Given the description of an element on the screen output the (x, y) to click on. 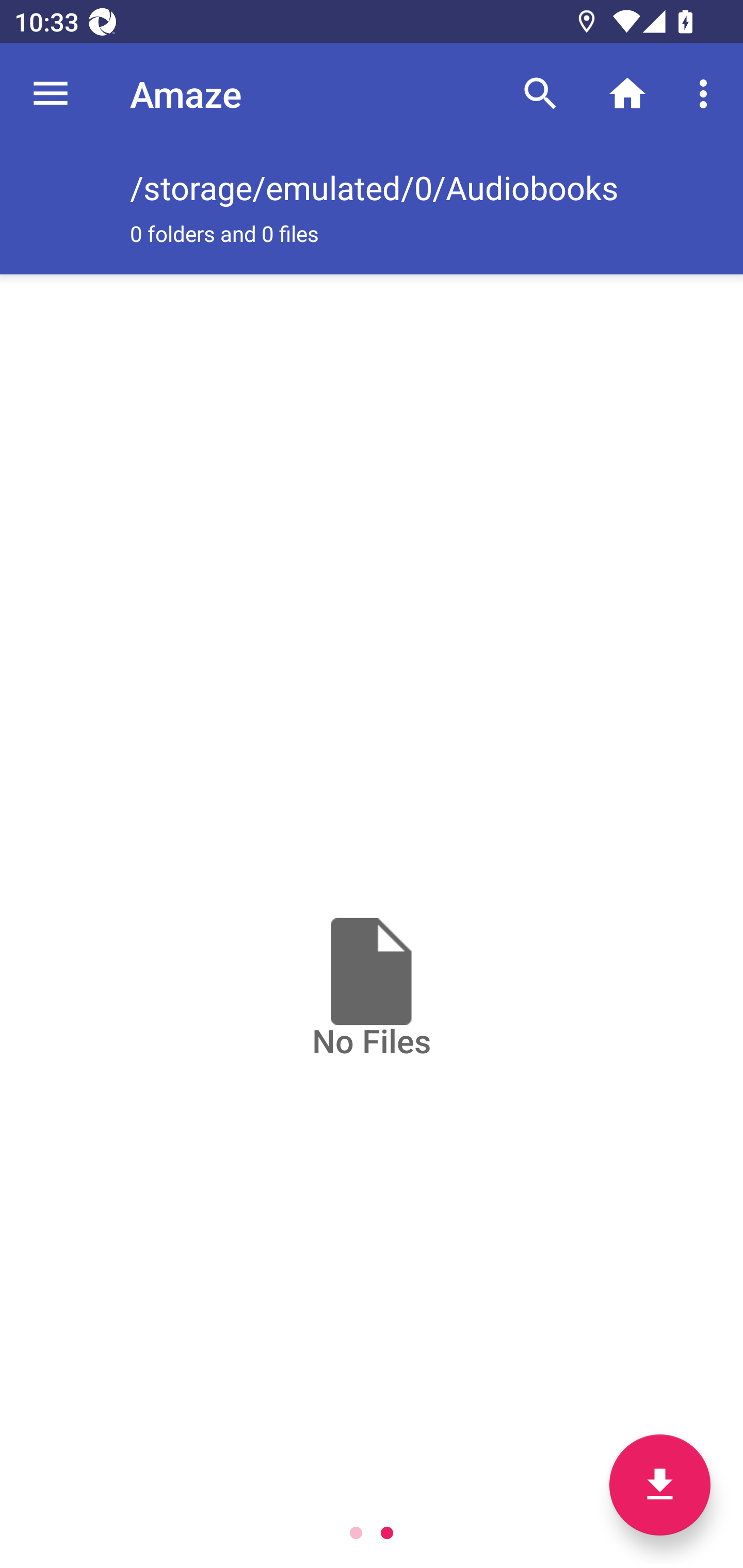
Navigate up (50, 93)
Search (540, 93)
Home (626, 93)
More options (706, 93)
